Given the description of an element on the screen output the (x, y) to click on. 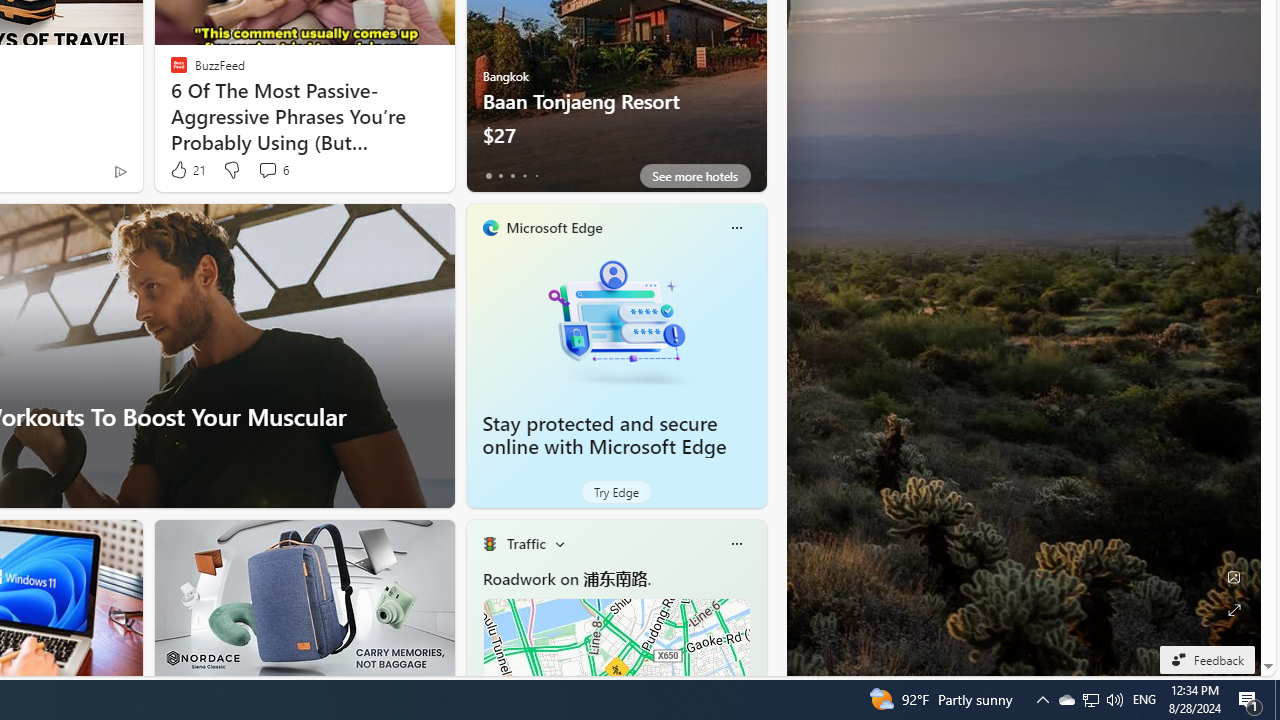
Ad Choice (119, 171)
Edit Background (1233, 577)
Microsoft Edge (553, 227)
Feedback (1206, 659)
Class: icon-img (736, 543)
View comments 6 Comment (272, 170)
Traffic Title Traffic Light (489, 543)
Traffic (525, 543)
